Given the description of an element on the screen output the (x, y) to click on. 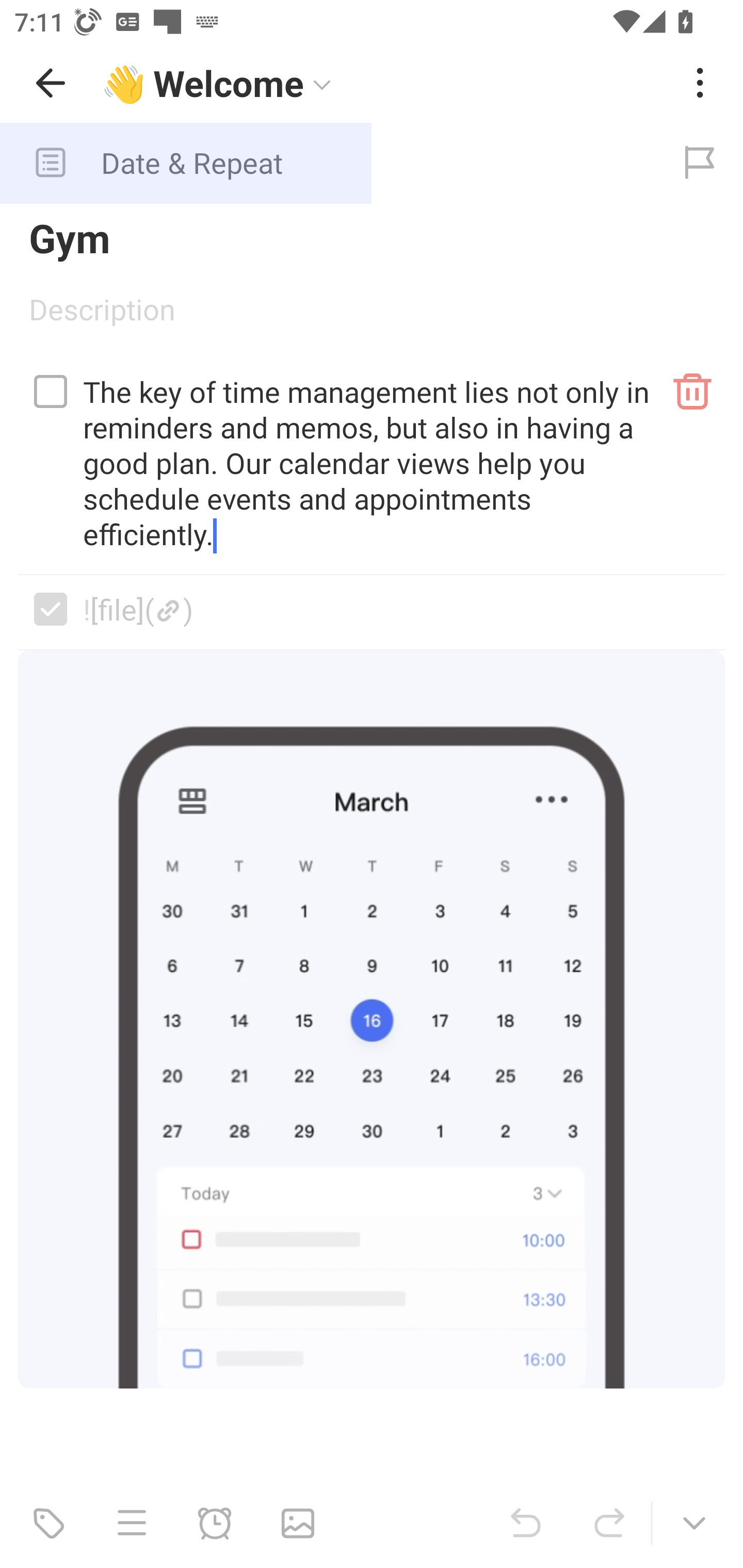
👋 Welcome (384, 82)
Date & Repeat (328, 163)
Gym (371, 237)
Description (371, 315)
  (50, 390)
  (50, 608)
